Given the description of an element on the screen output the (x, y) to click on. 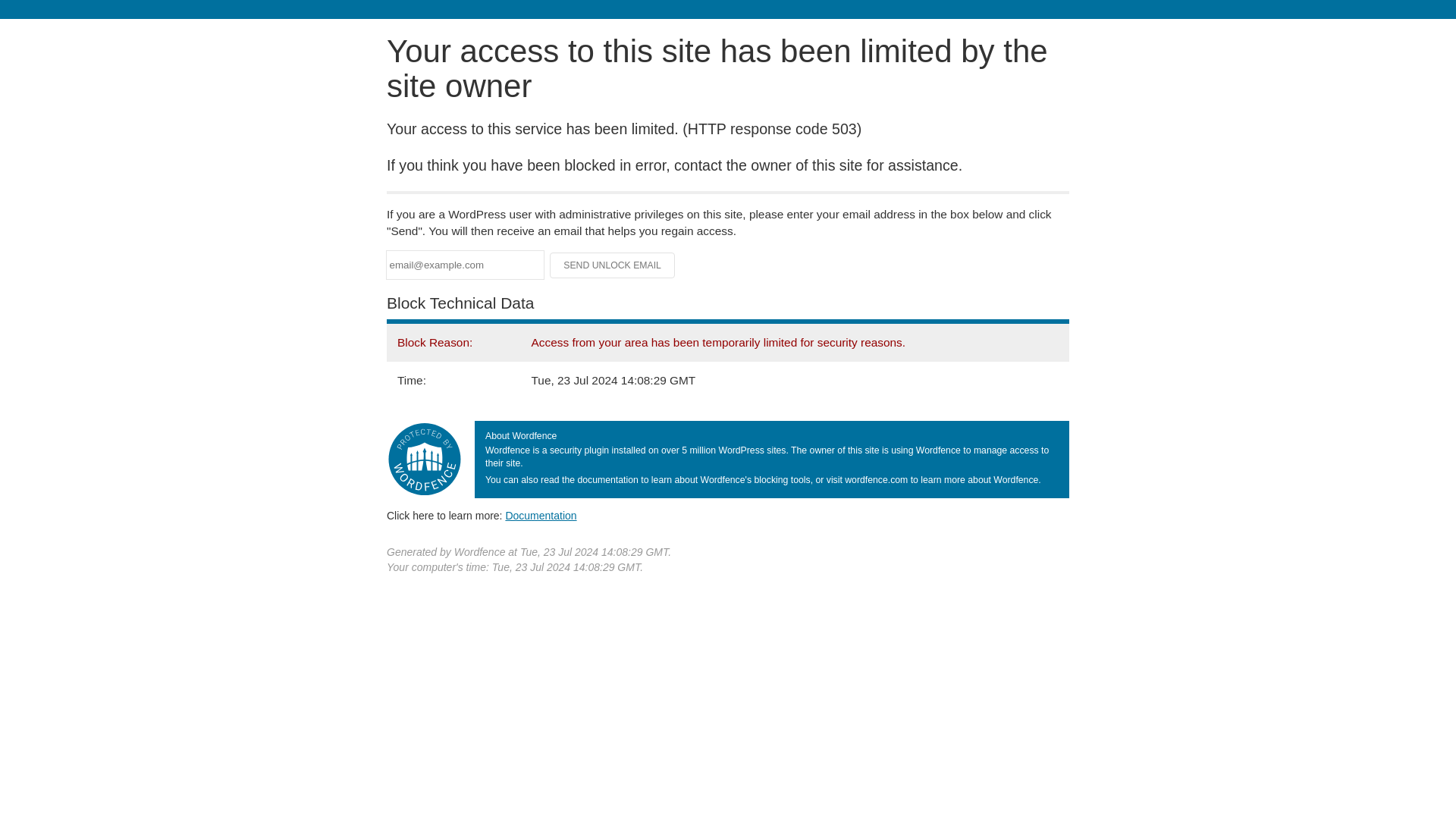
Documentation (540, 515)
Send Unlock Email (612, 265)
Send Unlock Email (612, 265)
